Given the description of an element on the screen output the (x, y) to click on. 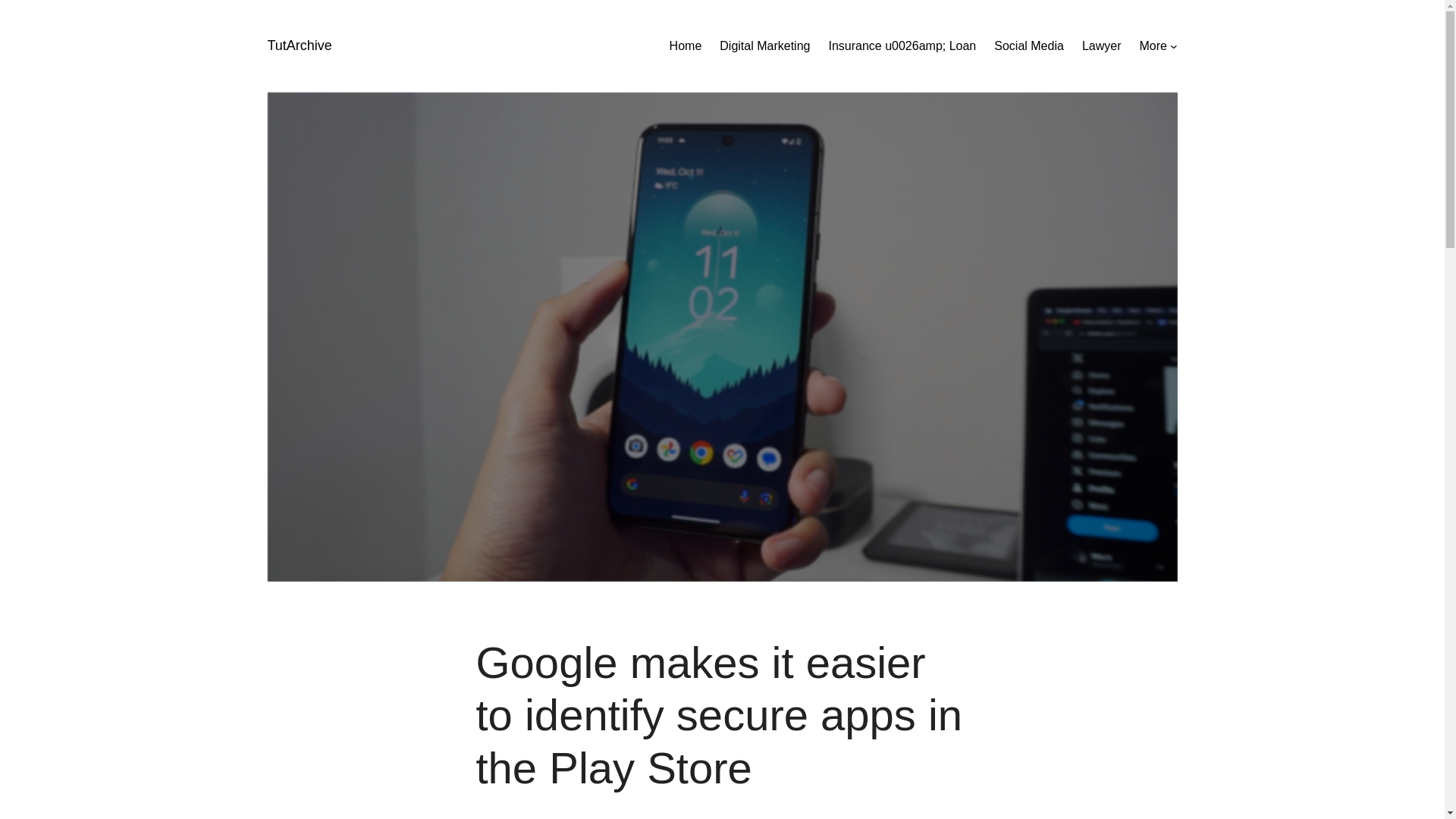
Lawyer (1101, 46)
Digital Marketing (764, 46)
TutArchive (298, 45)
Home (685, 46)
More (1152, 46)
Social Media (1029, 46)
Insurance u0026amp; Loan (901, 46)
